Given the description of an element on the screen output the (x, y) to click on. 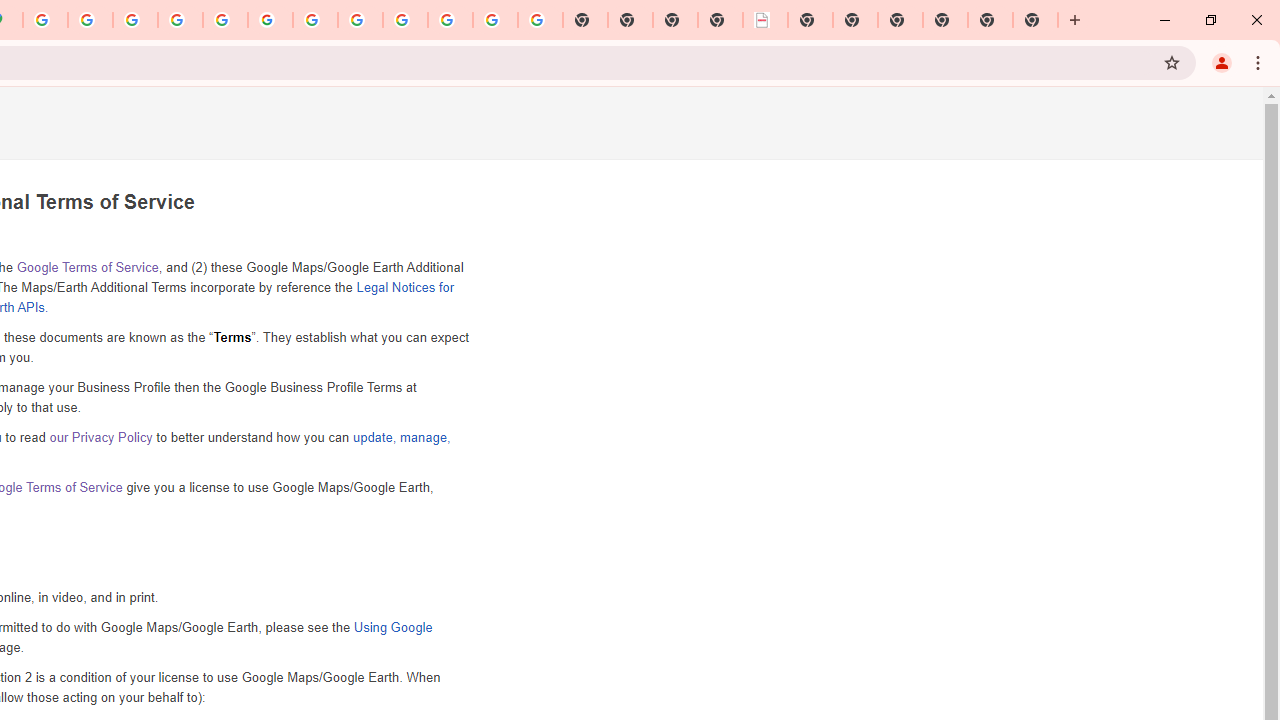
our Privacy Policy (100, 437)
Google Terms of Service (86, 267)
Privacy Help Center - Policies Help (134, 20)
New Tab (944, 20)
Privacy Help Center - Policies Help (180, 20)
